Given the description of an element on the screen output the (x, y) to click on. 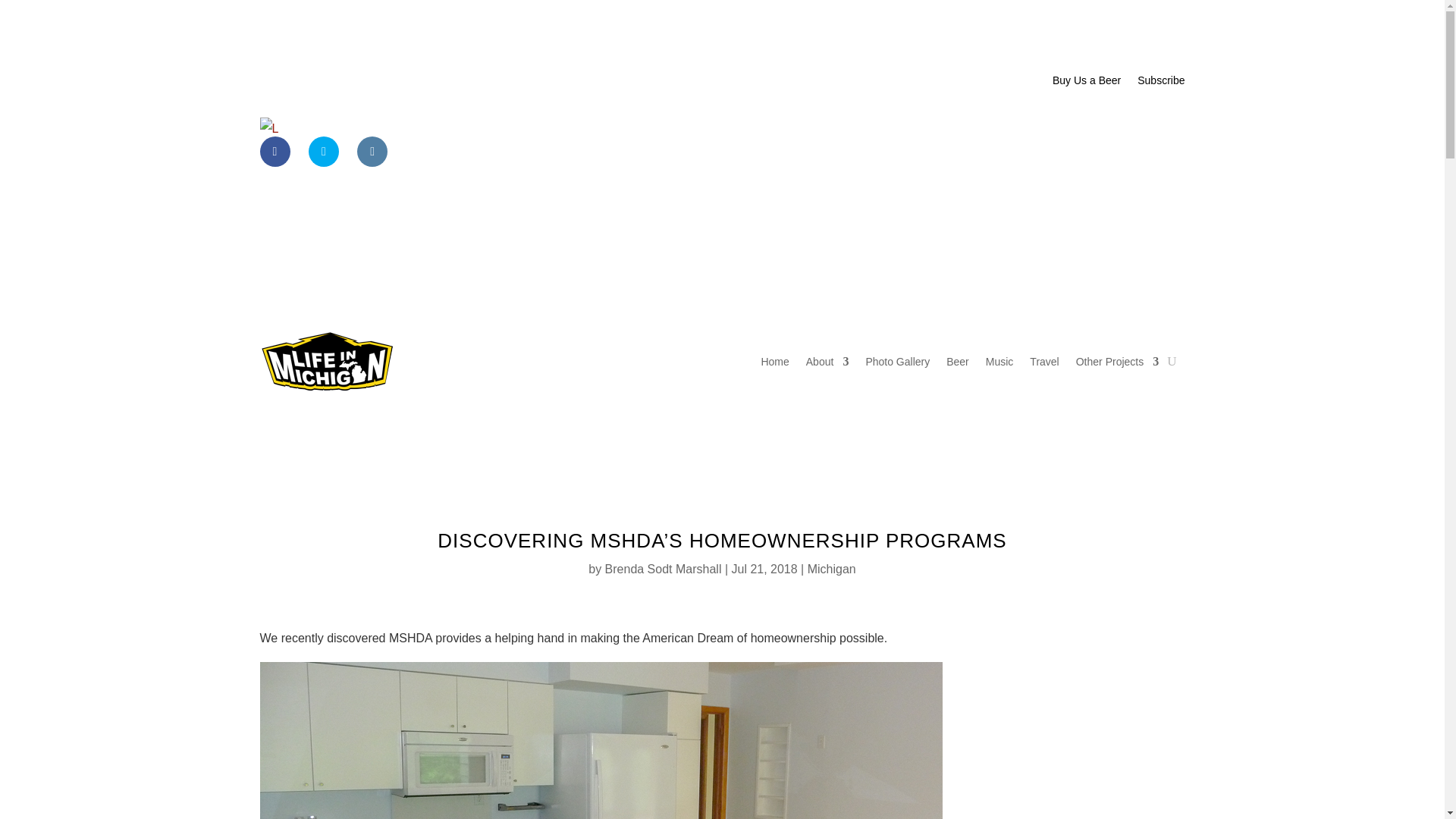
Michigan (832, 568)
Photo Gallery (897, 361)
Brenda Sodt Marshall (663, 568)
Buy Us a Beer (1086, 83)
Subscribe (1161, 83)
Posts by Brenda Sodt Marshall (663, 568)
Other Projects (1116, 361)
